Given the description of an element on the screen output the (x, y) to click on. 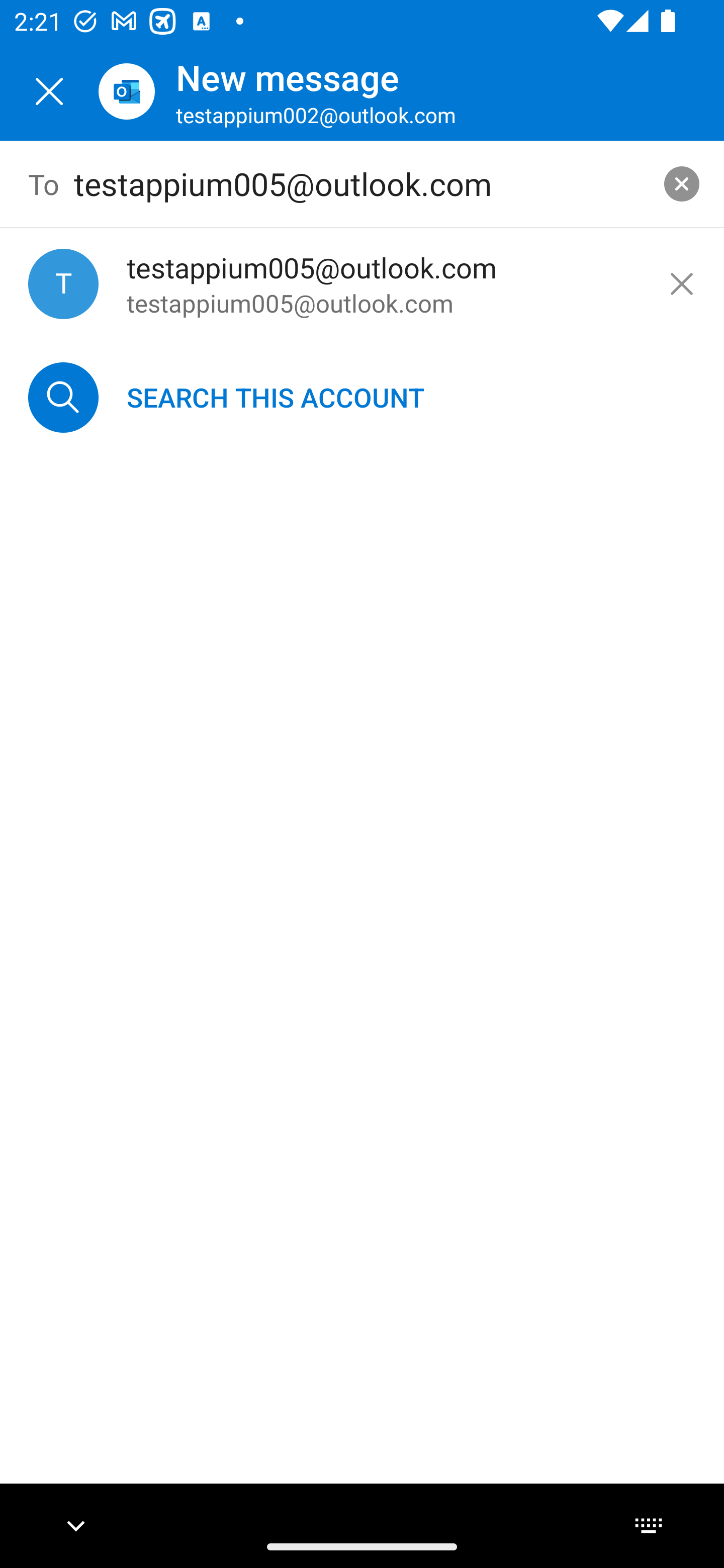
Close (49, 91)
testappium005@outlook.com (362, 184)
clear search (681, 183)
